Given the description of an element on the screen output the (x, y) to click on. 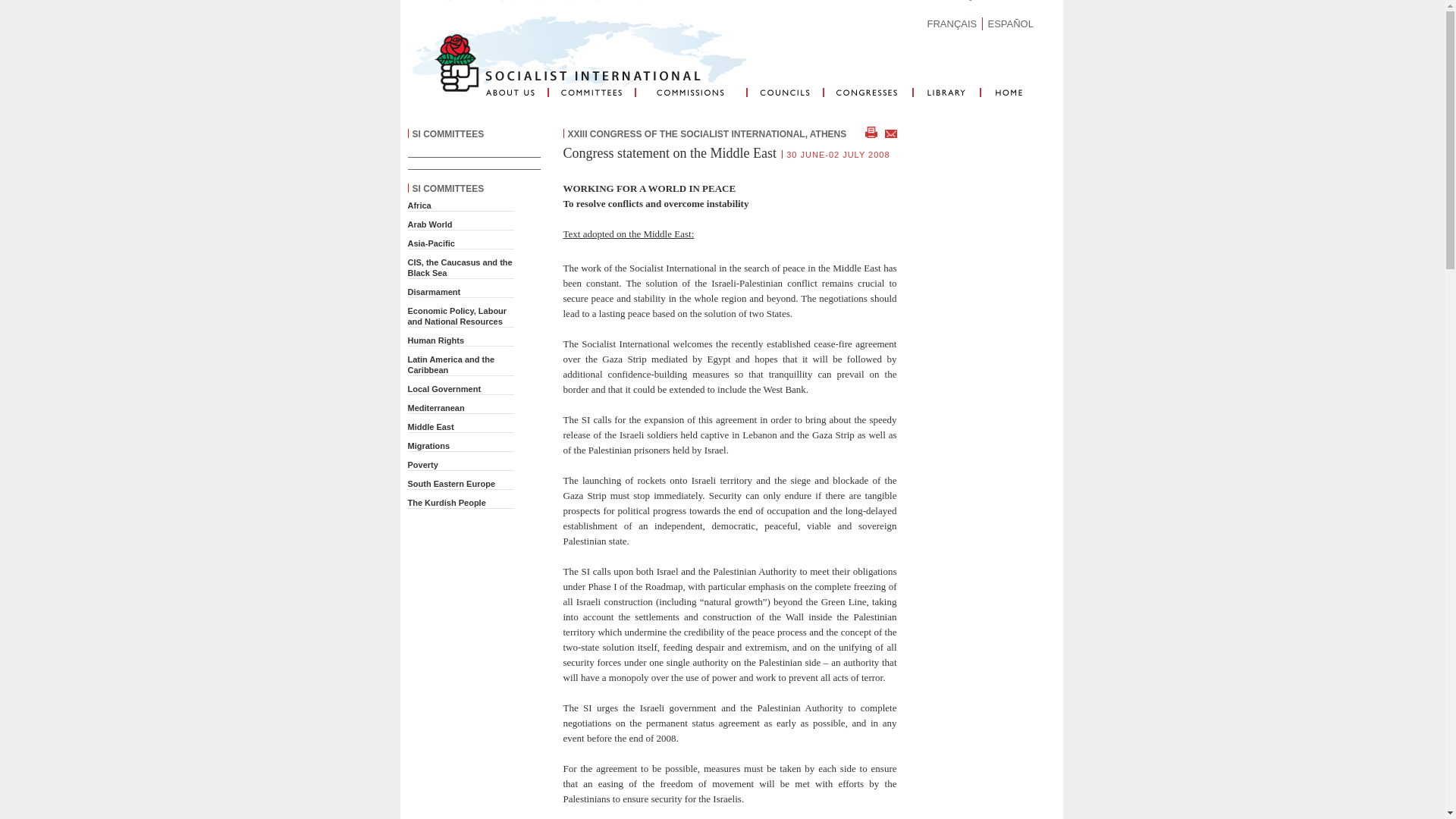
Asia-Pacific (430, 243)
Disarmament (434, 291)
Poverty (422, 464)
CIS, the Caucasus and the Black Sea (459, 267)
Economic Policy, Labour and National Resources (456, 315)
Africa (418, 204)
Arab World (429, 224)
Local Government (444, 388)
Congress statement on the Middle East (669, 152)
Middle East (430, 426)
SI COMMITTEES (448, 133)
Human Rights (435, 339)
Mediterranean (435, 407)
Migrations (428, 445)
South Eastern Europe (451, 483)
